Given the description of an element on the screen output the (x, y) to click on. 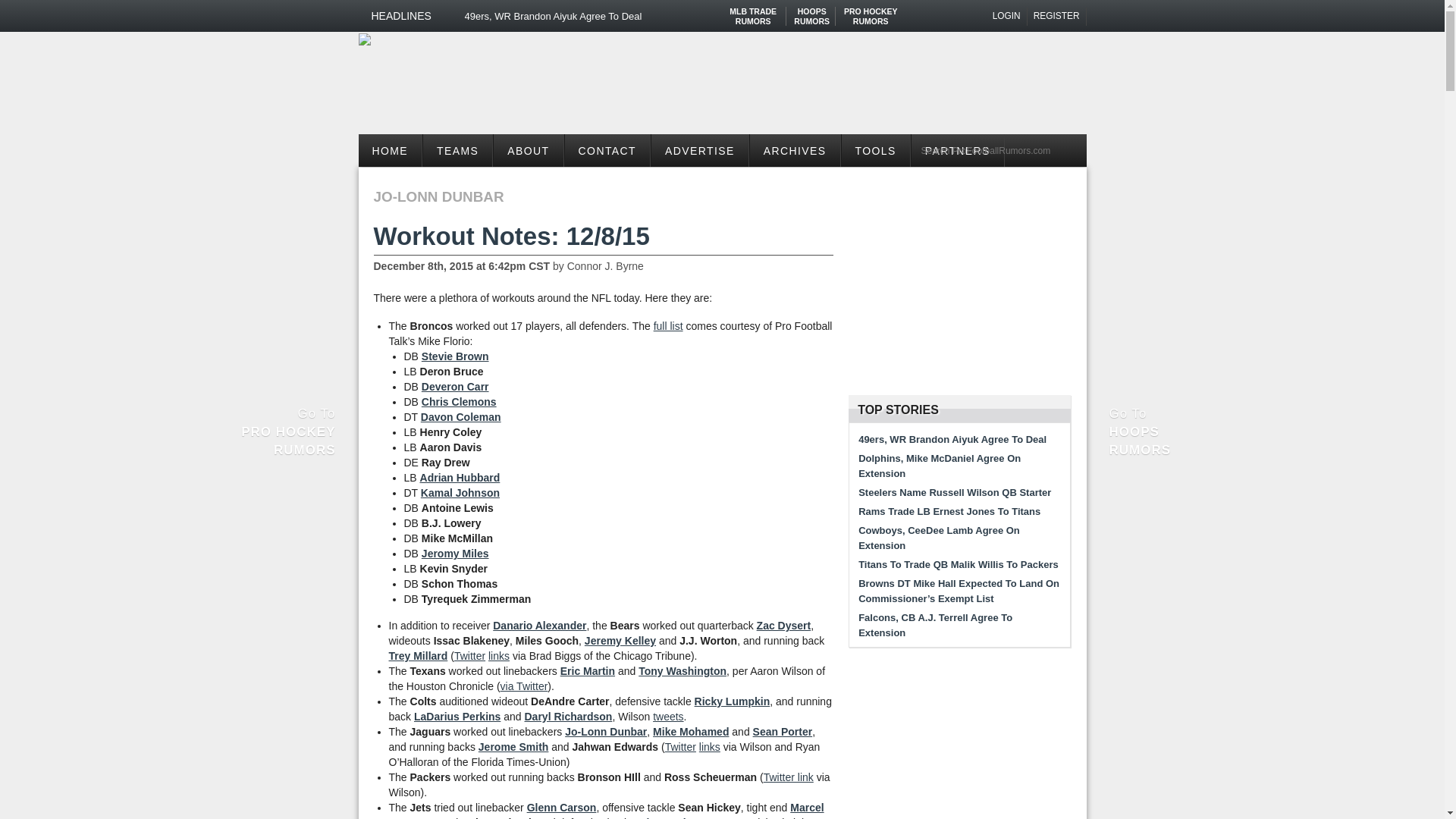
REGISTER (1056, 16)
LOGIN (1007, 16)
Search for: (999, 150)
HOME (390, 150)
Pro Football Rumors (753, 11)
49ers, WR Brandon Aiyuk Agree To Deal (363, 38)
TEAMS (610, 16)
